Given the description of an element on the screen output the (x, y) to click on. 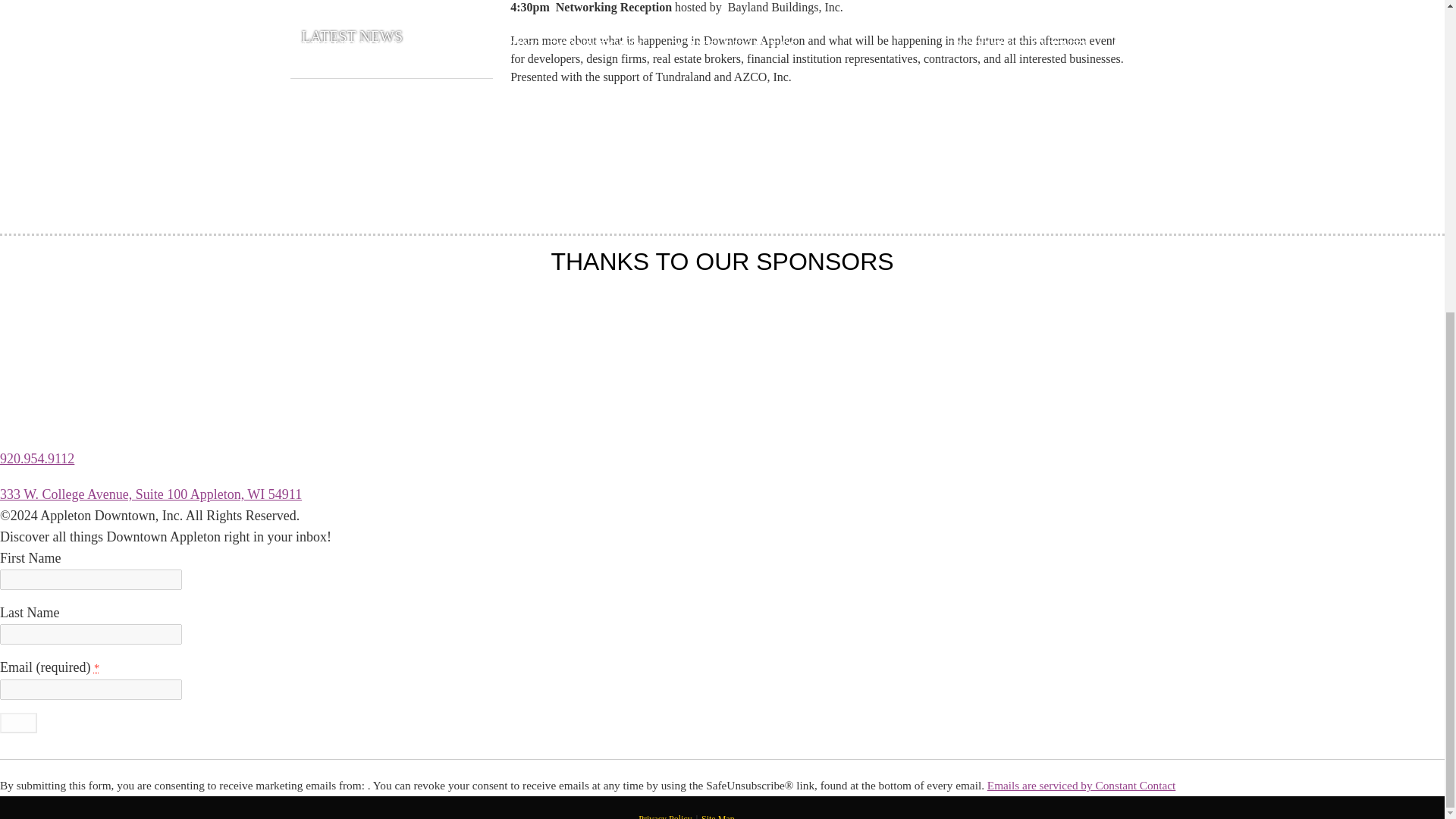
GO! (18, 722)
